Given the description of an element on the screen output the (x, y) to click on. 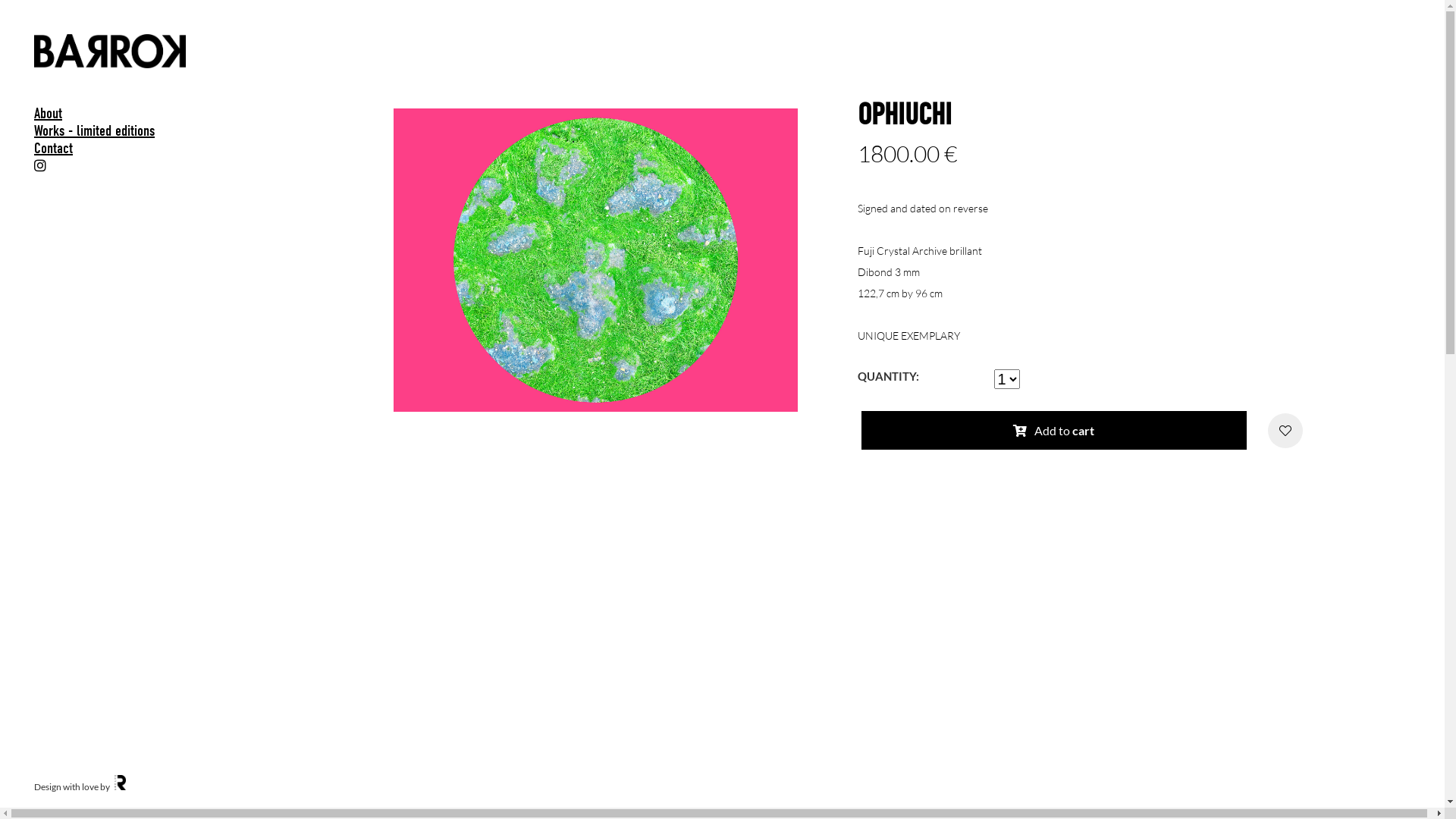
Works - limited editions Element type: text (109, 130)
About Element type: text (109, 113)
Contact Element type: text (109, 147)
Add to cart Element type: text (1054, 430)
